Given the description of an element on the screen output the (x, y) to click on. 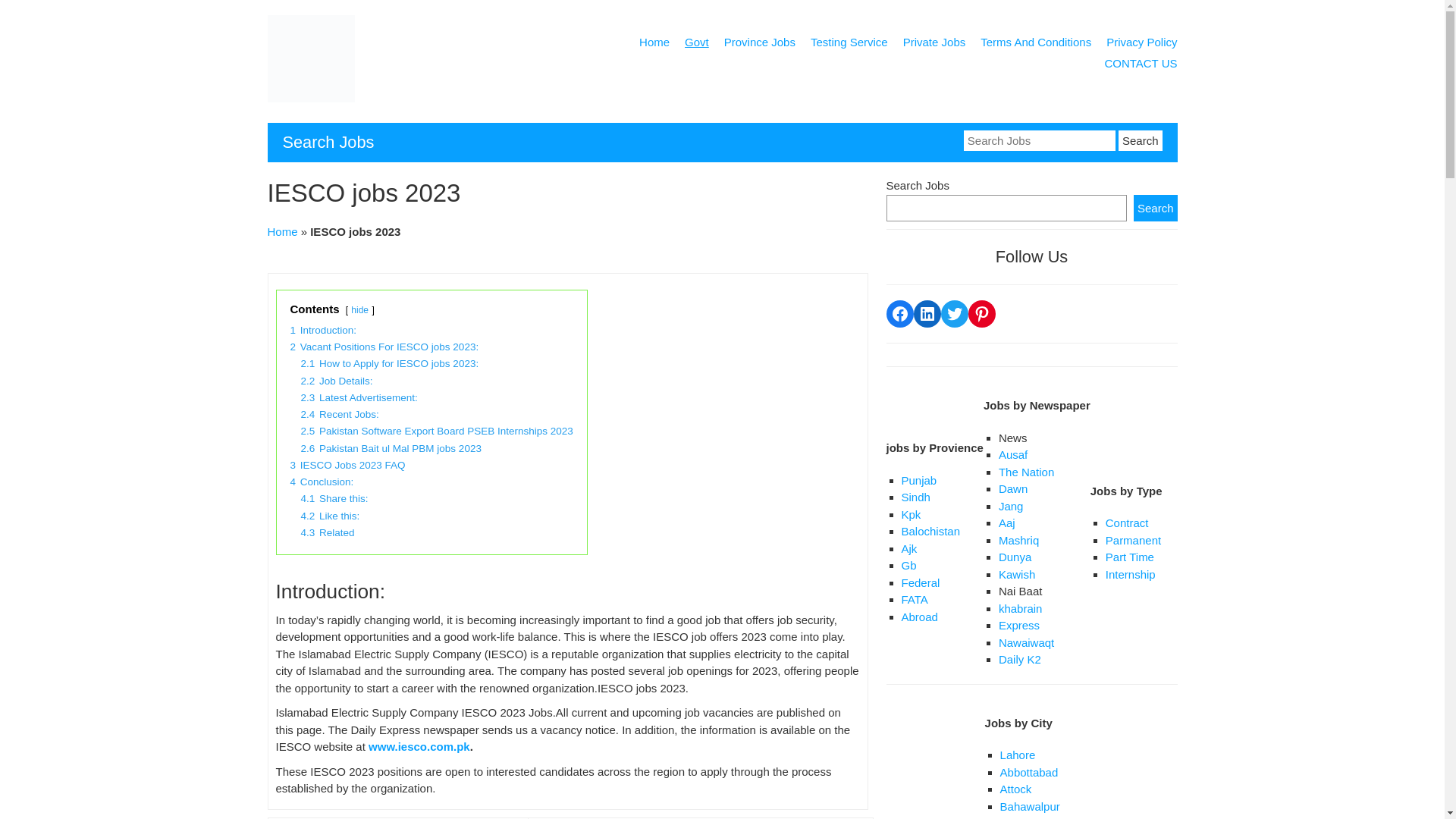
Province Jobs (758, 44)
Govt (696, 44)
Job Solutions (309, 97)
Search (1139, 140)
Search (1139, 140)
Home (654, 44)
